Given the description of an element on the screen output the (x, y) to click on. 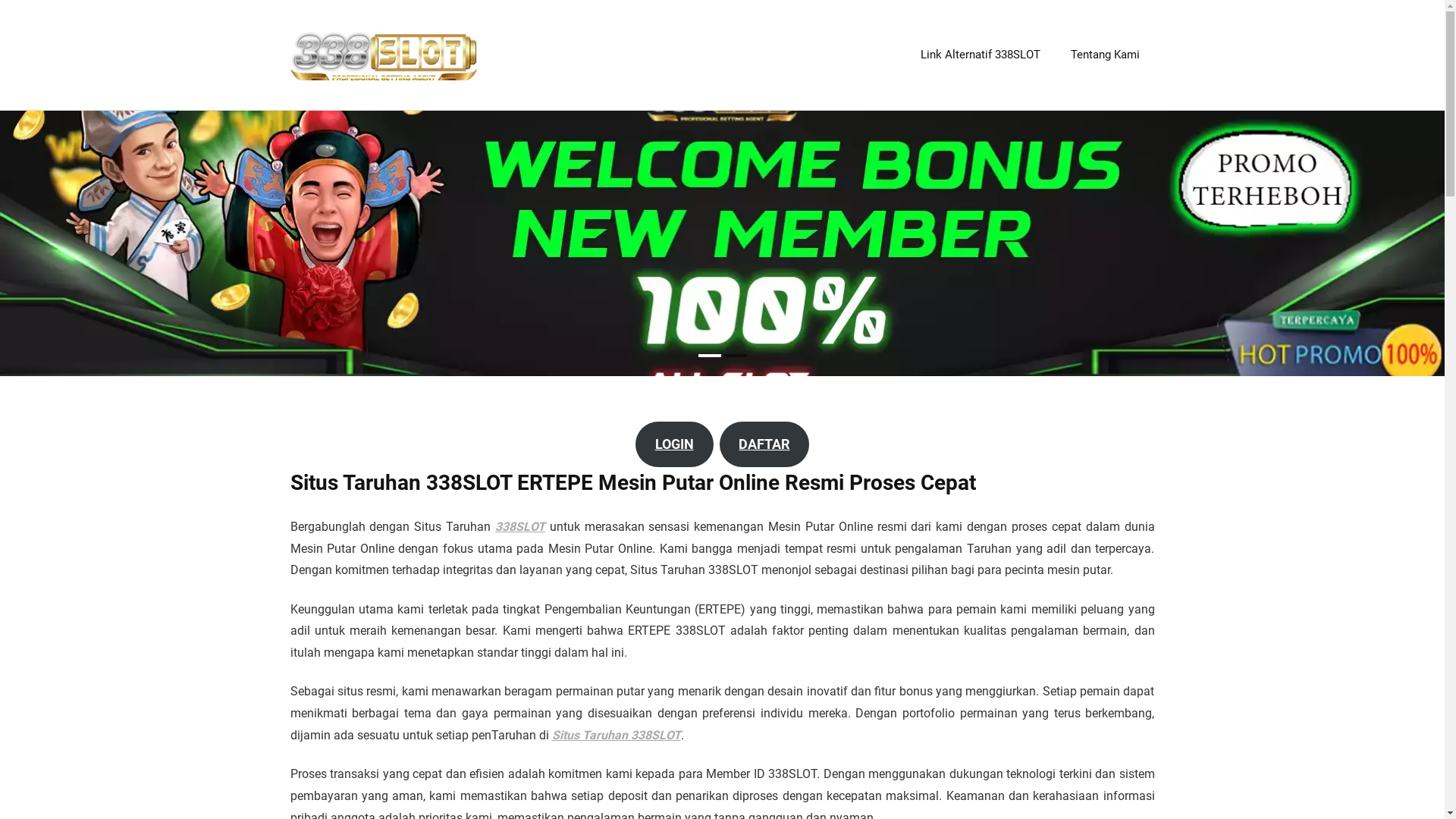
LOGIN Element type: text (674, 444)
DAFTAR Element type: text (763, 444)
Tentang Kami Element type: text (1104, 54)
338SLOT Element type: text (520, 526)
Situs Taruhan 338SLOT Element type: text (616, 735)
2 Element type: text (734, 355)
1 Element type: text (708, 355)
Link Alternatif 338SLOT Element type: text (980, 54)
